Given the description of an element on the screen output the (x, y) to click on. 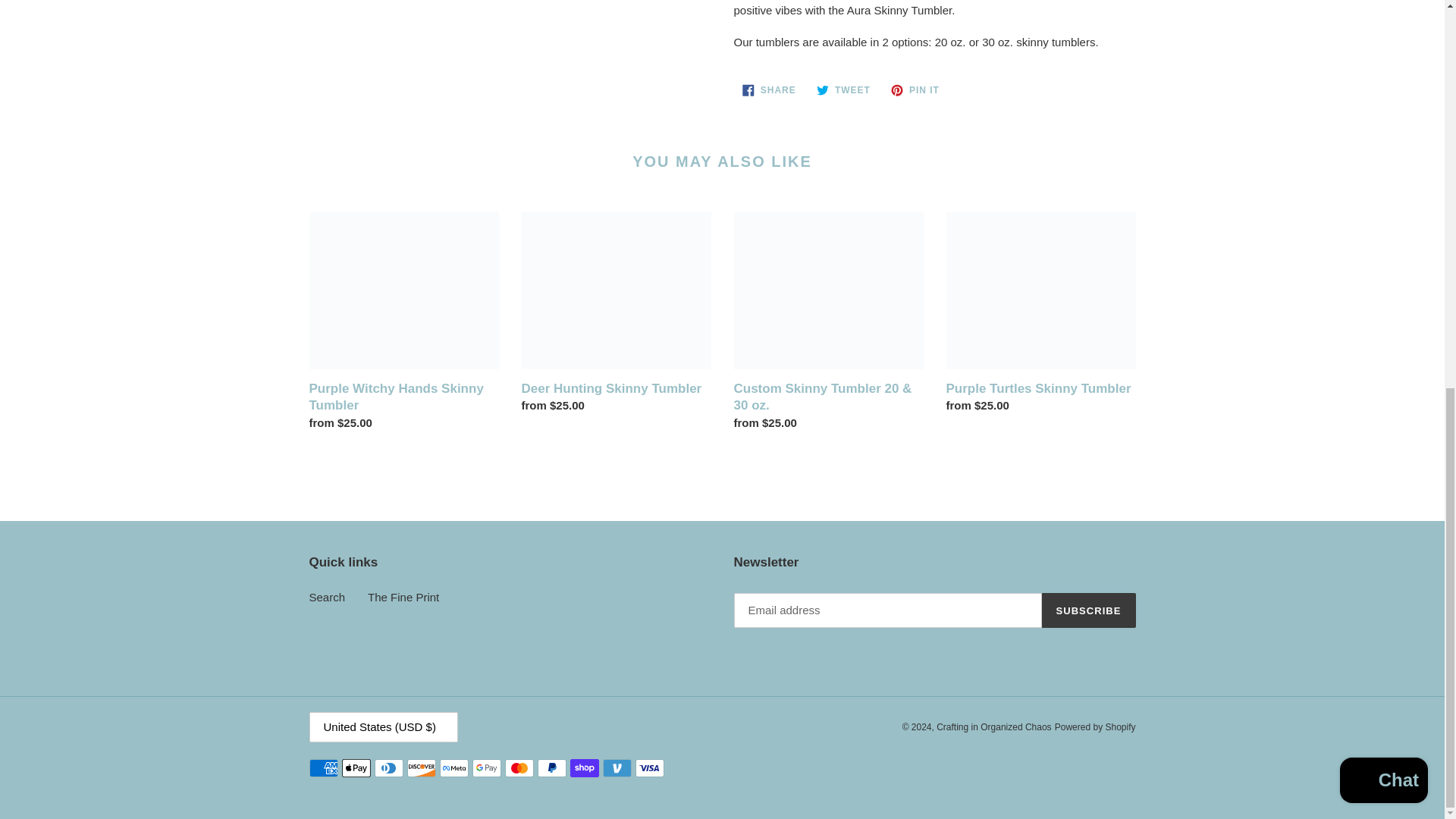
Shopify online store chat (1383, 47)
